Given the description of an element on the screen output the (x, y) to click on. 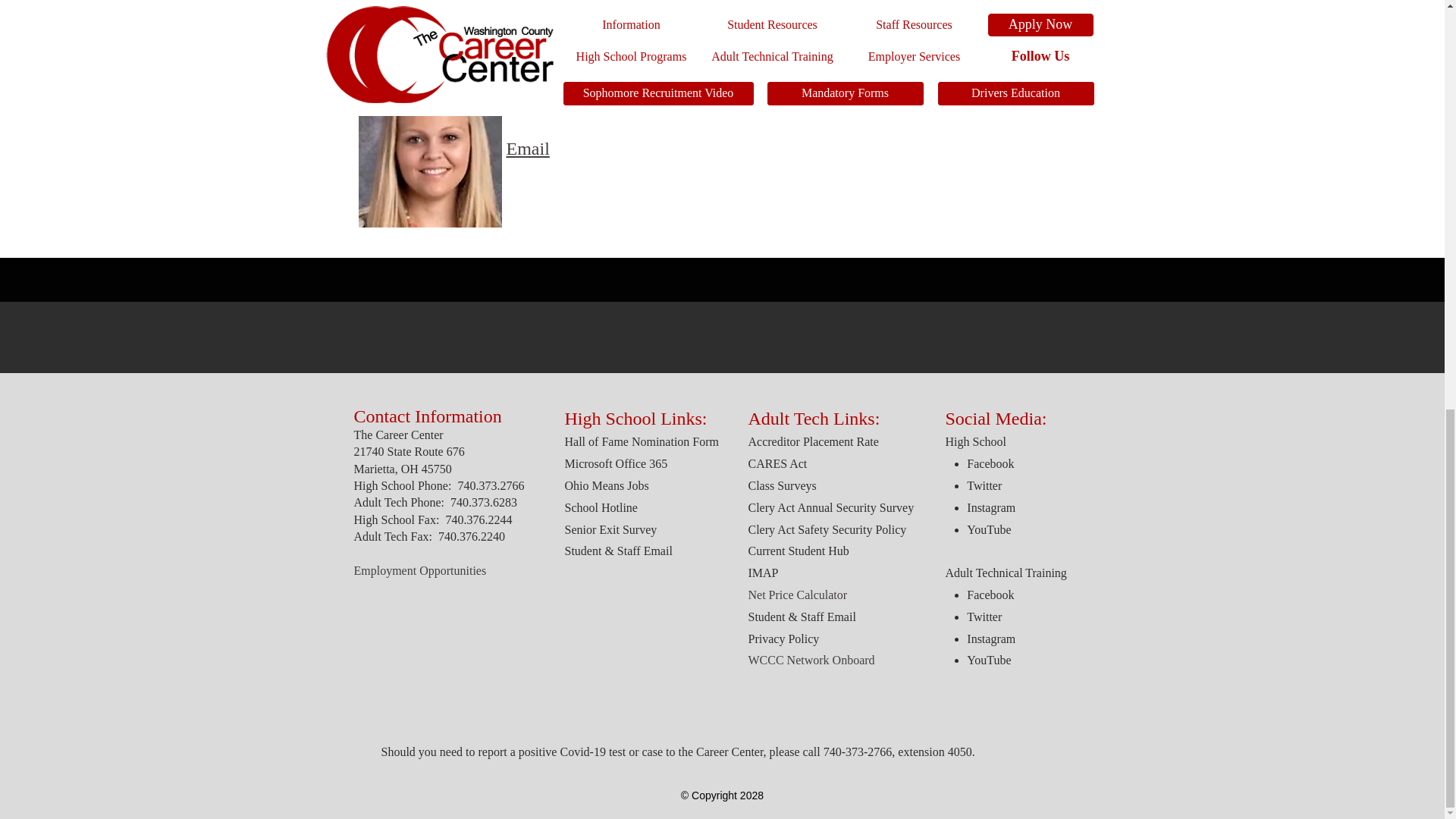
School Hotline (600, 507)
CARES Act (777, 463)
Net Price Calculator (797, 594)
Facebook (989, 594)
Facebook (989, 463)
Instagram (990, 507)
Current Student Hub (798, 550)
Hall of Fame Nomination Form (641, 440)
IMAP (762, 572)
Class Surveys (781, 485)
Email (528, 148)
Microsoft Office 365 (615, 463)
WCCC Network Onboard (811, 659)
Twitter (983, 616)
Clery Act Safety Security Policy  (828, 529)
